Given the description of an element on the screen output the (x, y) to click on. 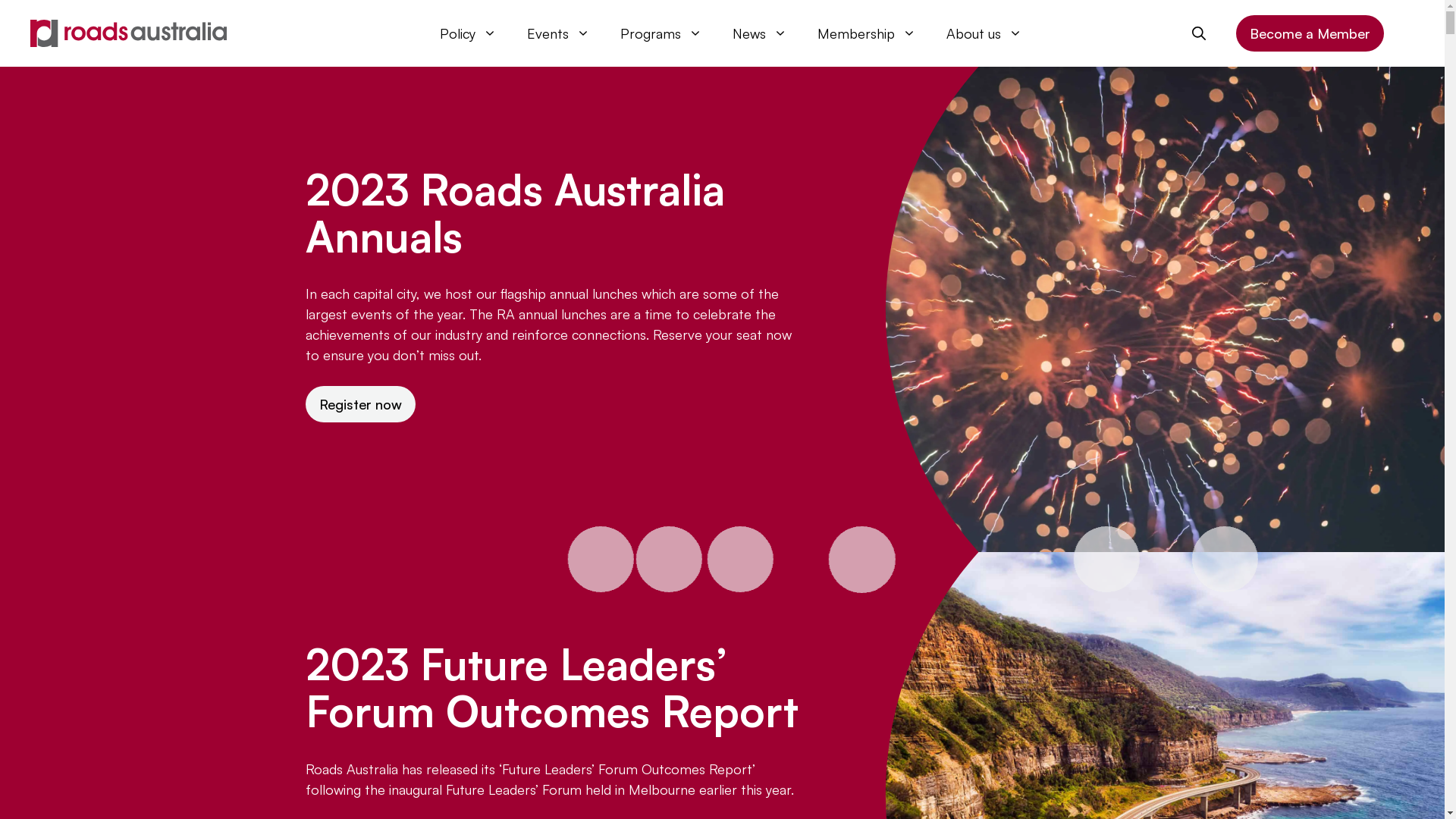
News Element type: text (759, 33)
Membership Element type: text (866, 33)
Register now Element type: text (359, 403)
Events Element type: text (558, 33)
About us Element type: text (984, 33)
Policy Element type: text (467, 33)
Programs Element type: text (661, 33)
Become a Member Element type: text (1309, 33)
